Given the description of an element on the screen output the (x, y) to click on. 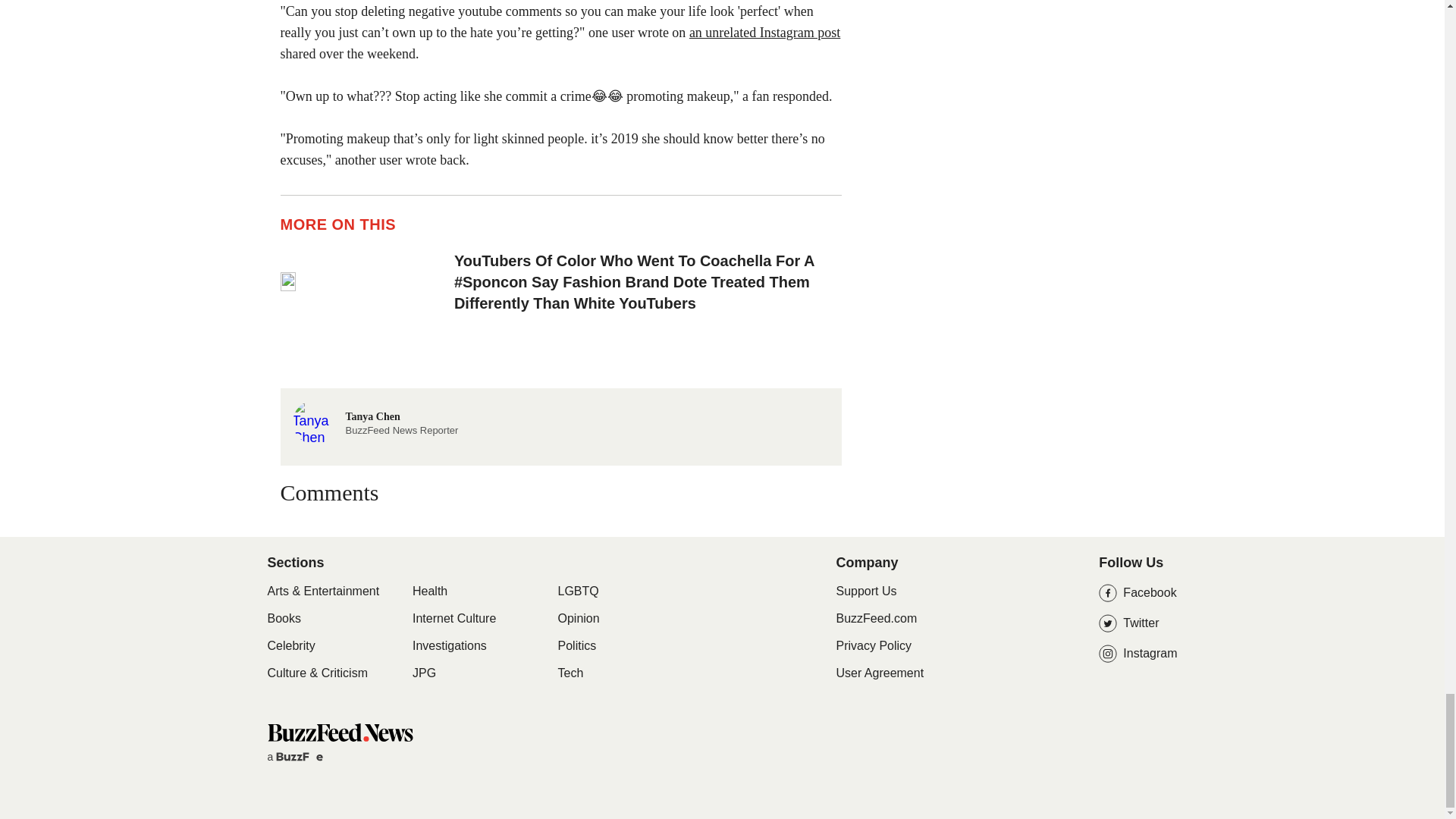
Celebrity (290, 645)
BuzzFeed News Home (339, 732)
Health (429, 590)
an unrelated Instagram post (375, 420)
BuzzFeed (764, 32)
Books (303, 756)
